Given the description of an element on the screen output the (x, y) to click on. 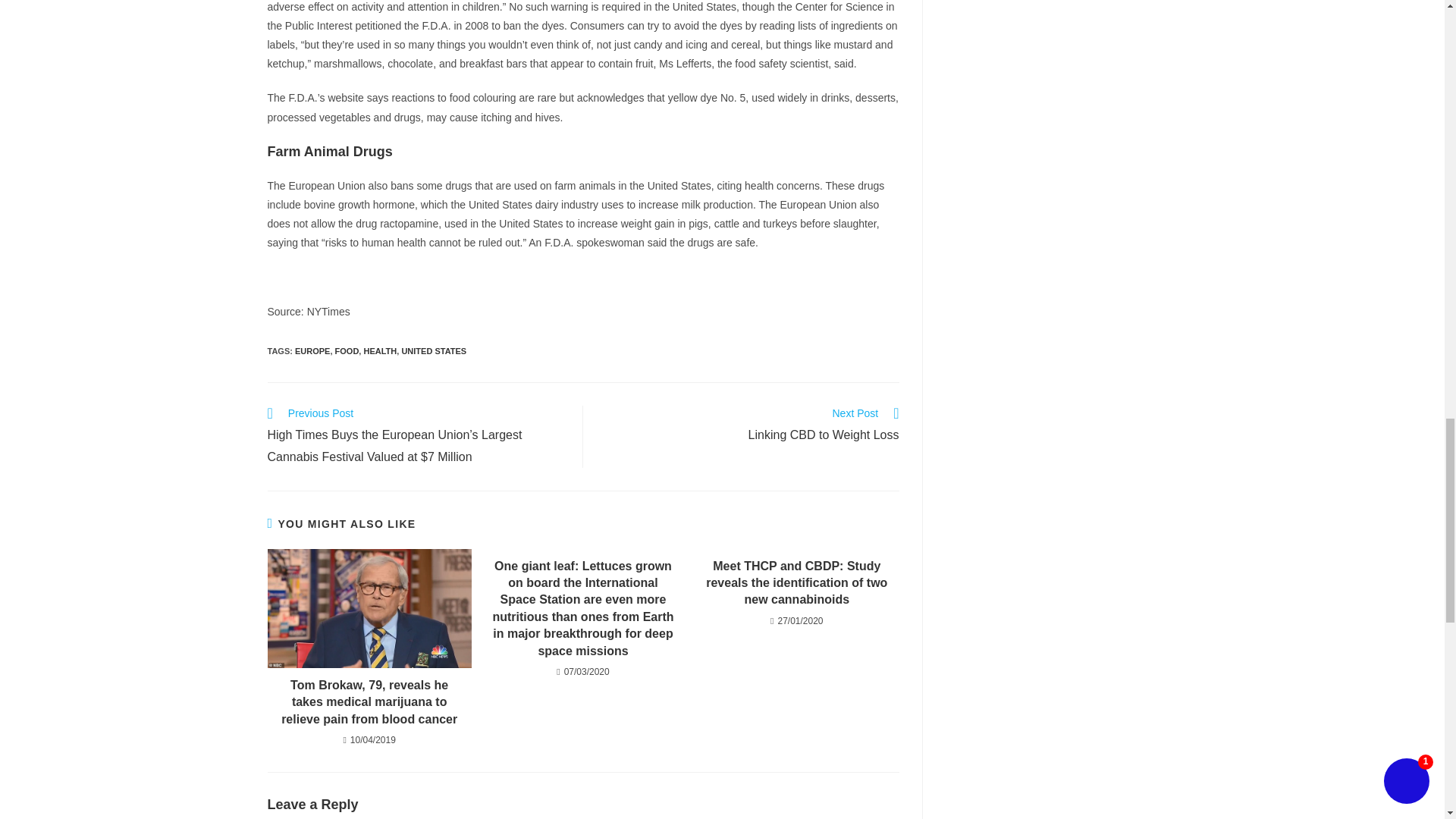
EUROPE (312, 350)
UNITED STATES (748, 425)
FOOD (433, 350)
HEALTH (346, 350)
